Given the description of an element on the screen output the (x, y) to click on. 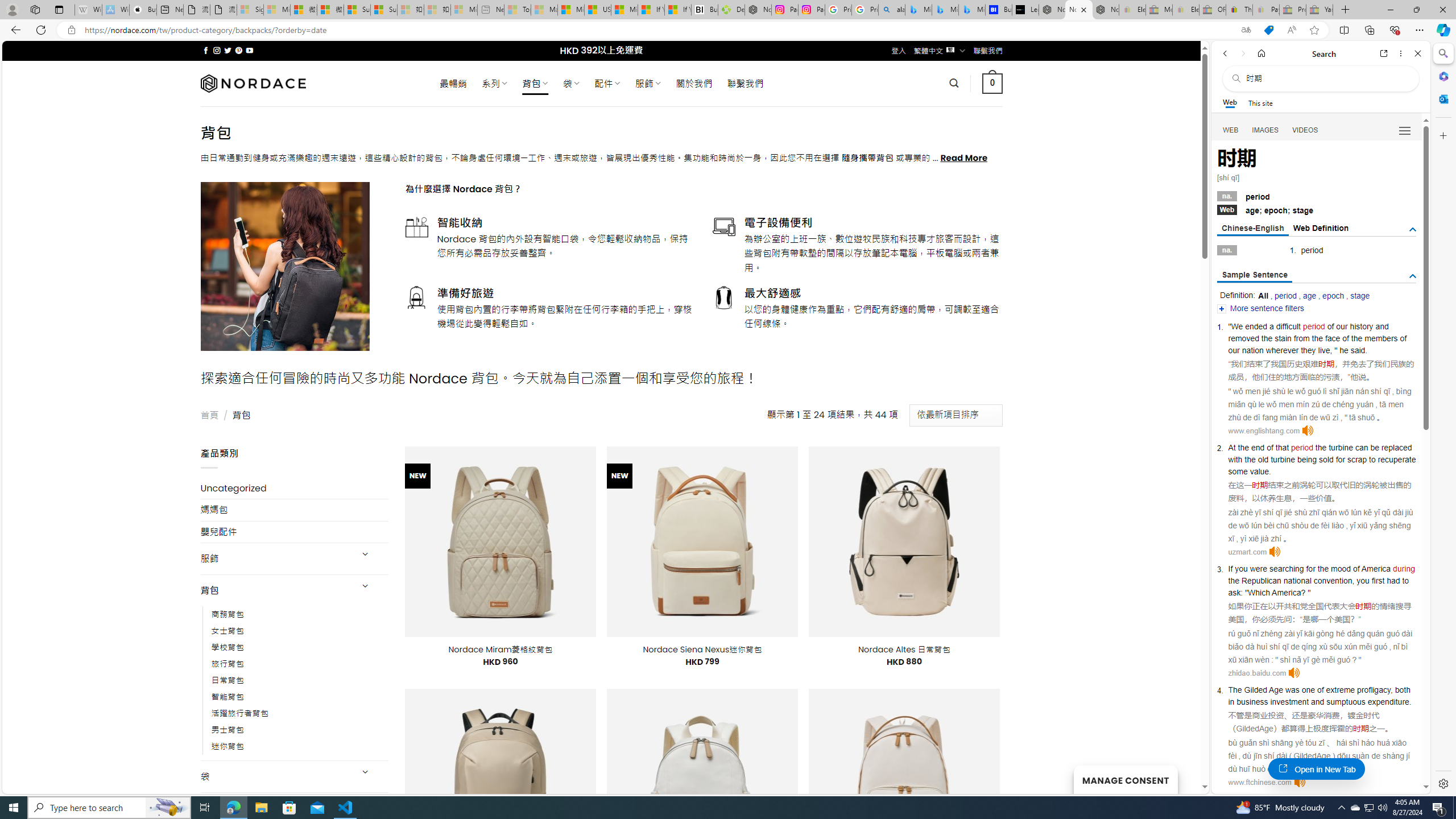
value (1259, 470)
Search Filter, IMAGES (1265, 129)
and (1382, 325)
nation (1252, 349)
Forward (1242, 53)
Web Definition (1321, 227)
Follow on Facebook (205, 50)
